Given the description of an element on the screen output the (x, y) to click on. 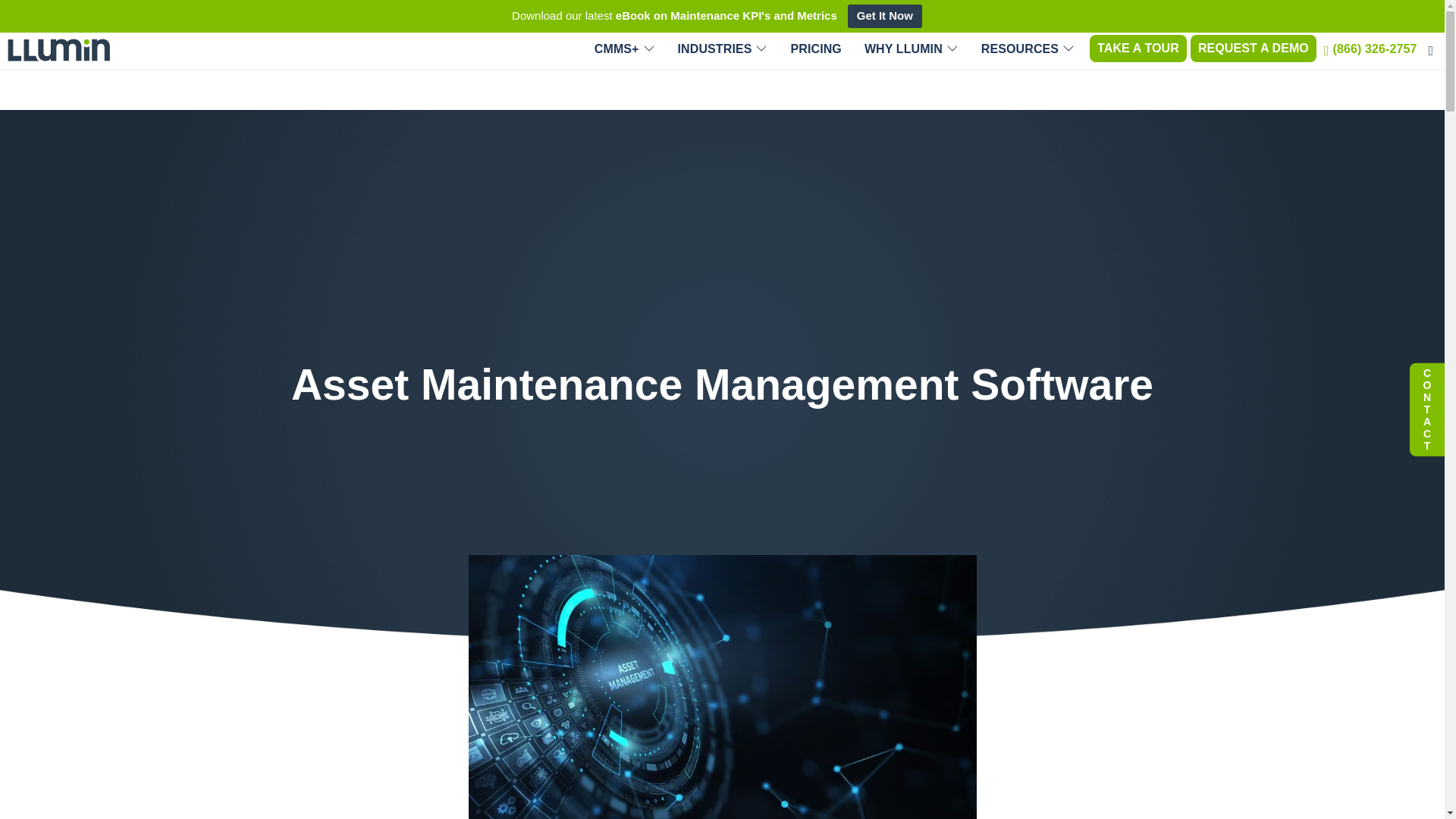
asset management (722, 687)
PRICING (815, 49)
Get It Now (884, 15)
INDUSTRIES (722, 49)
